Given the description of an element on the screen output the (x, y) to click on. 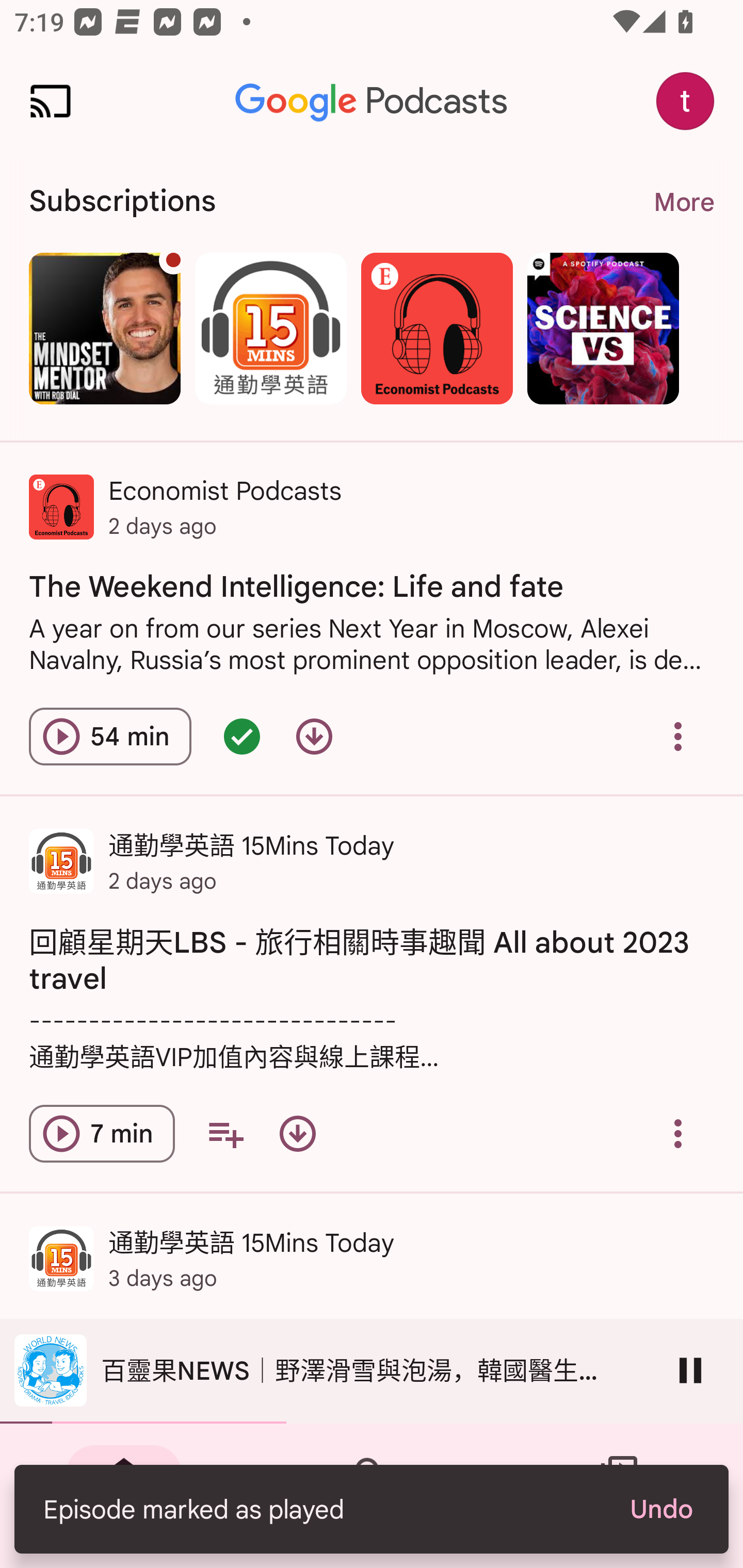
Cast. Disconnected (50, 101)
More More. Navigate to subscriptions page. (683, 202)
The Mindset Mentor (104, 328)
通勤學英語 15Mins Today (270, 328)
Economist Podcasts (436, 328)
Science Vs (603, 328)
Episode queued - double tap for options (241, 736)
Download episode (313, 736)
Overflow menu (677, 736)
Add to your queue (225, 1133)
Download episode (297, 1133)
Overflow menu (677, 1133)
Pause (690, 1370)
Undo (660, 1509)
